Given the description of an element on the screen output the (x, y) to click on. 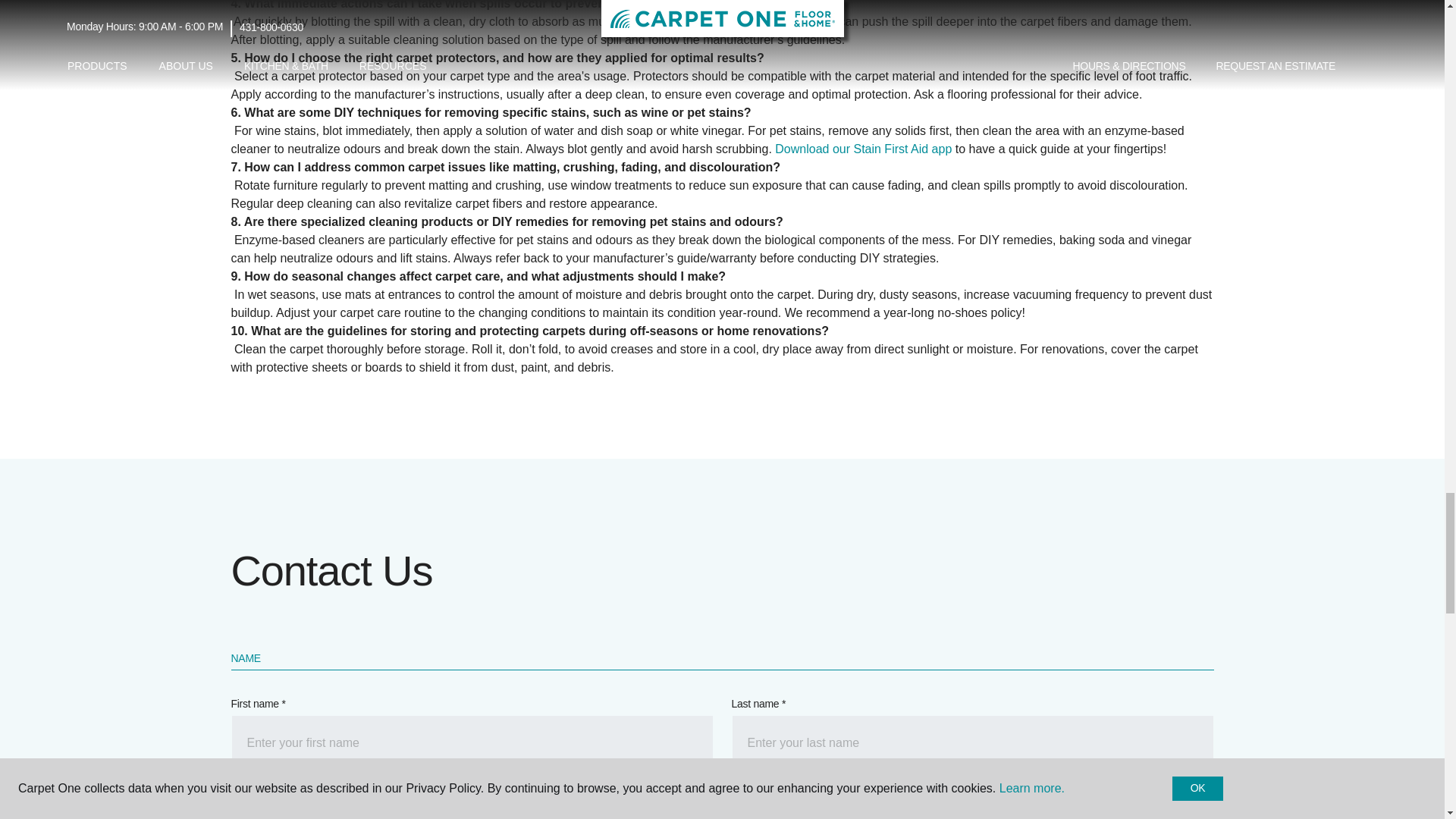
FirstName (471, 742)
LastName (971, 742)
